Given the description of an element on the screen output the (x, y) to click on. 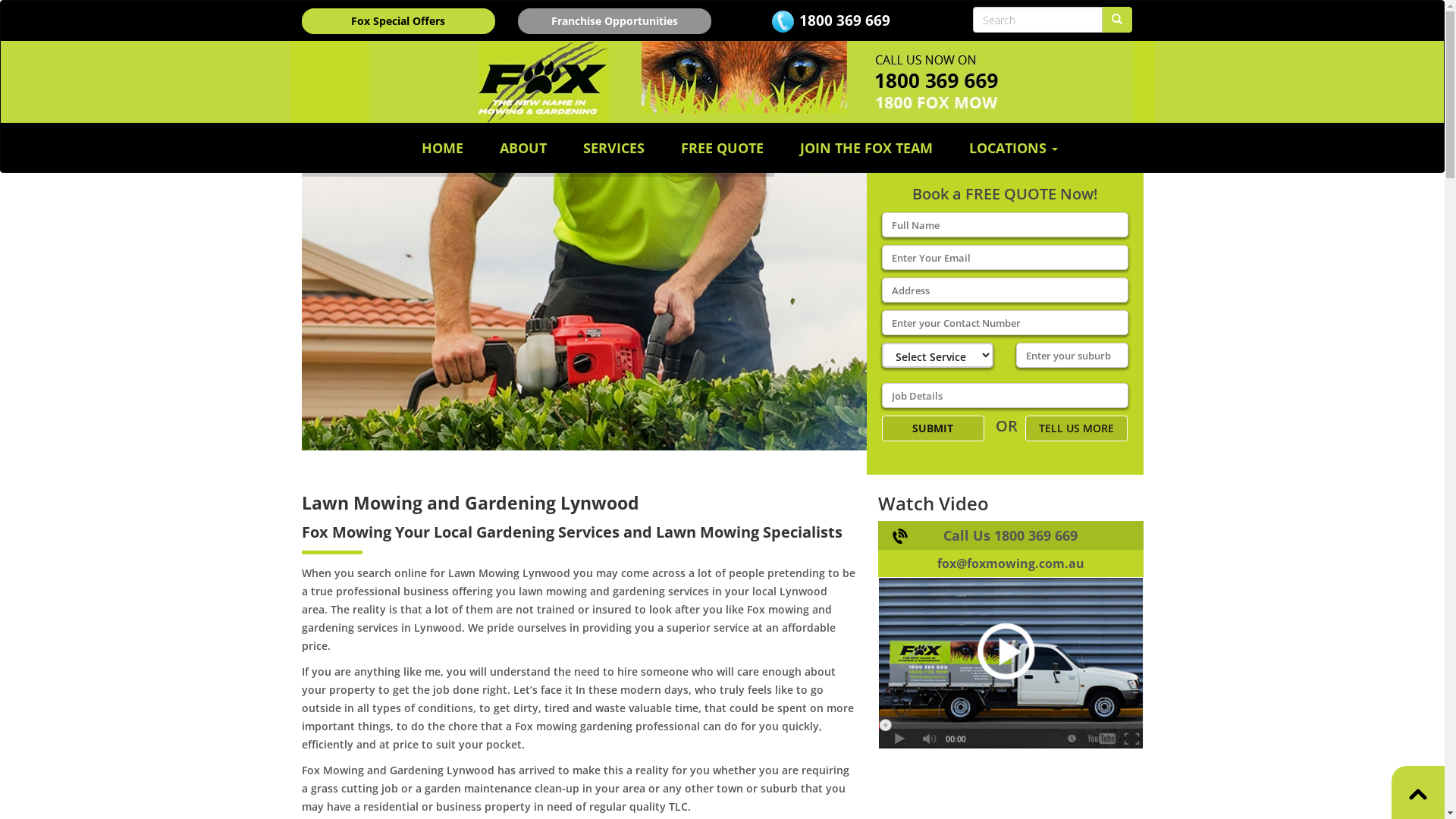
Fox Special Offers Element type: text (398, 21)
Foxmowing WA Element type: hover (721, 81)
HOME Element type: text (442, 147)
SUBMIT Element type: text (932, 428)
TELL US MORE Element type: text (1076, 428)
ABOUT Element type: text (522, 147)
Foxmowing WA Element type: hover (1010, 634)
LOCATIONS Element type: text (1013, 147)
FREE QUOTE Element type: text (721, 147)
JOIN THE FOX TEAM Element type: text (865, 147)
Franchise Opportunities Element type: text (613, 21)
1800 369 669 Element type: text (844, 20)
SERVICES Element type: text (613, 147)
